Given the description of an element on the screen output the (x, y) to click on. 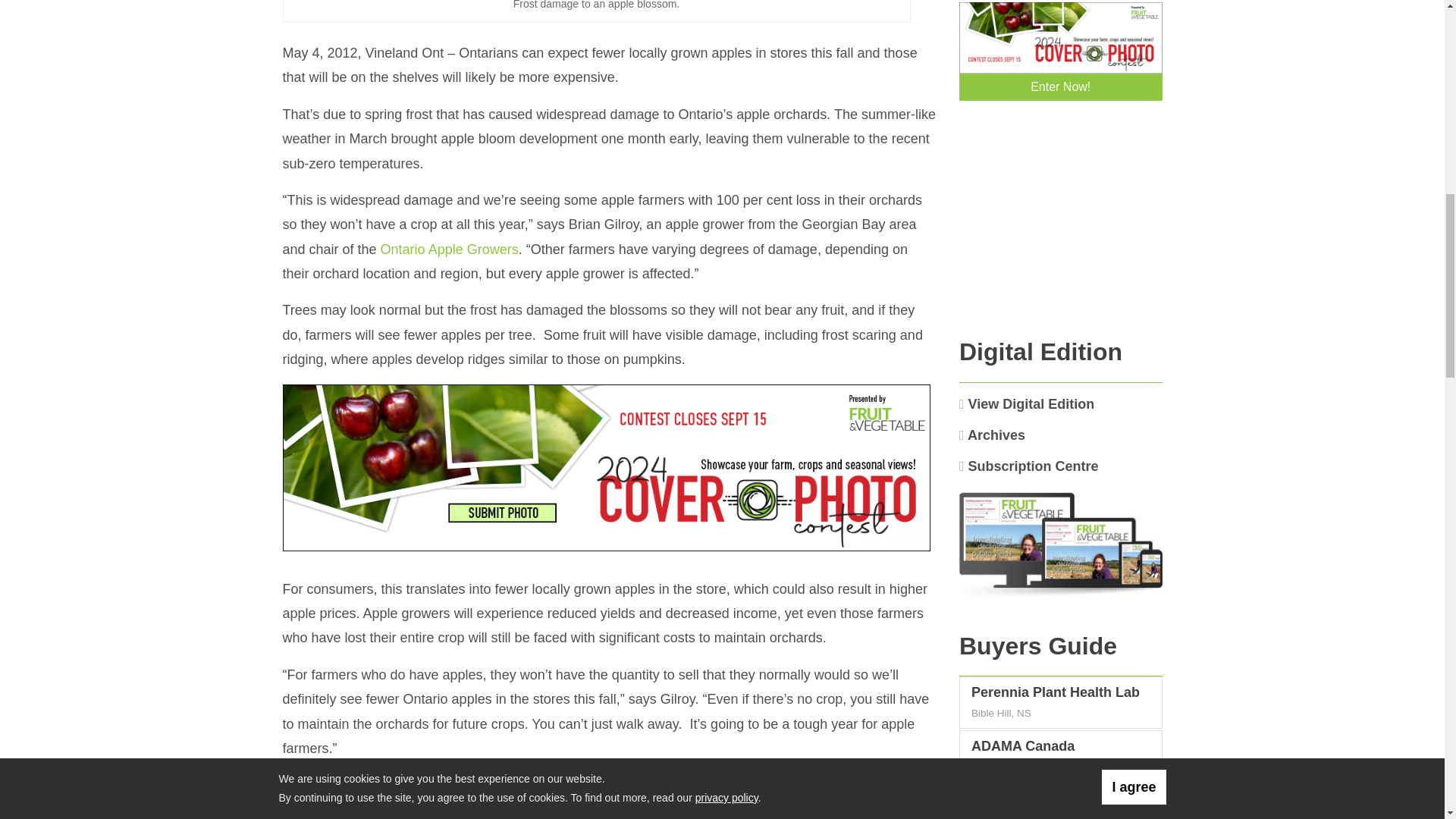
3rd party ad content (1060, 227)
3rd party ad content (609, 469)
3rd party ad content (609, 794)
